Given the description of an element on the screen output the (x, y) to click on. 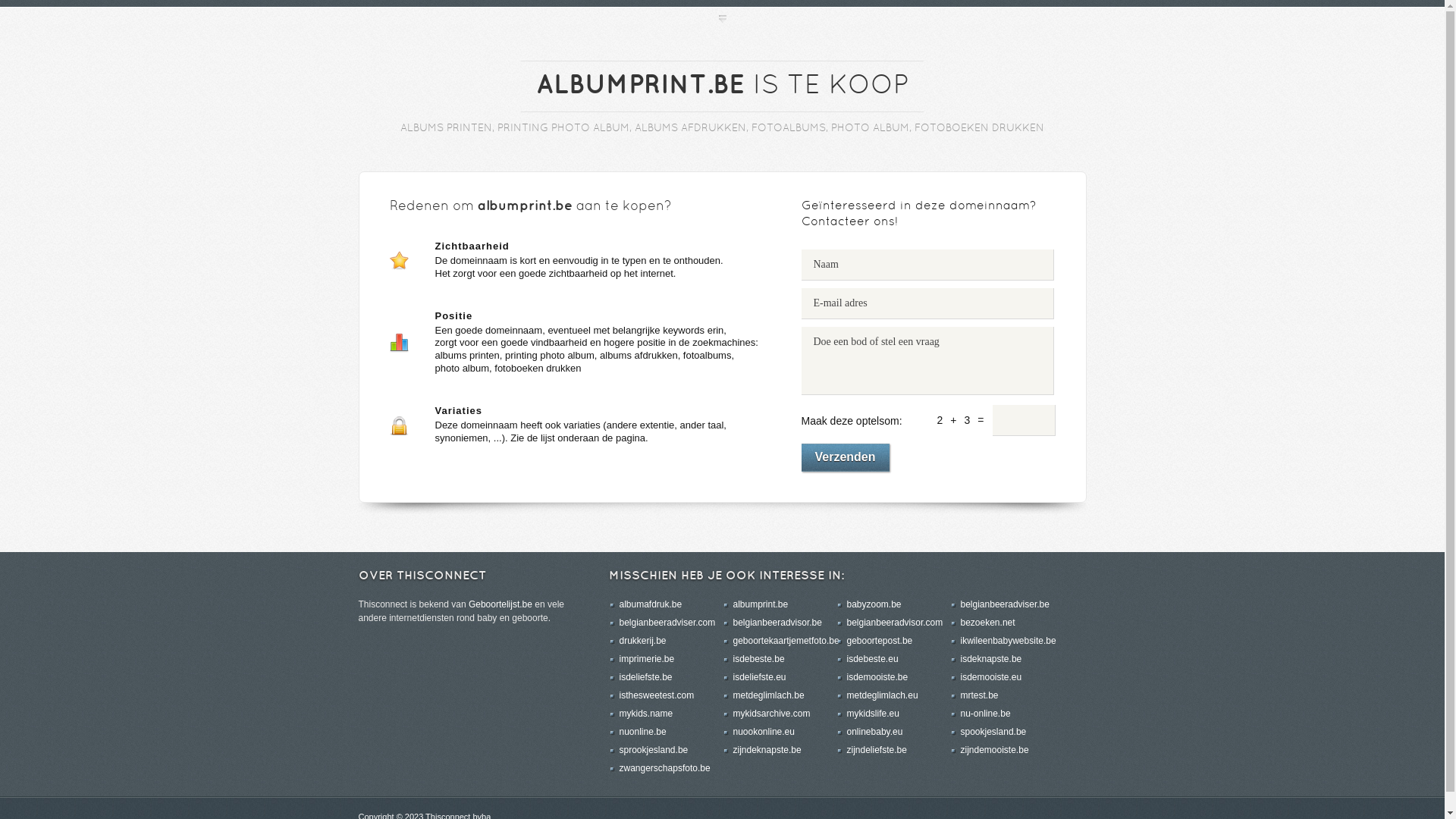
nu-online.be Element type: text (985, 713)
imprimerie.be Element type: text (646, 658)
belgianbeeradvisor.com Element type: text (894, 622)
drukkerij.be Element type: text (641, 640)
geboortepost.be Element type: text (879, 640)
isdebeste.be Element type: text (758, 658)
belgianbeeradvisor.be Element type: text (776, 622)
mykidsarchive.com Element type: text (770, 713)
spookjesland.be Element type: text (993, 731)
isdeliefste.eu Element type: text (758, 676)
isthesweetest.com Element type: text (655, 695)
zijndemooiste.be Element type: text (994, 749)
mykids.name Element type: text (645, 713)
mykidslife.eu Element type: text (872, 713)
metdeglimlach.eu Element type: text (881, 695)
metdeglimlach.be Element type: text (767, 695)
isdemooiste.be Element type: text (876, 676)
isdeliefste.be Element type: text (644, 676)
nuookonline.eu Element type: text (762, 731)
Verzenden Element type: text (844, 457)
onlinebaby.eu Element type: text (874, 731)
isdebeste.eu Element type: text (871, 658)
bezoeken.net Element type: text (987, 622)
nuonline.be Element type: text (641, 731)
zijndeliefste.be Element type: text (876, 749)
sprookjesland.be Element type: text (652, 749)
albumprint.be Element type: text (759, 604)
belgianbeeradviser.com Element type: text (666, 622)
albumafdruk.be Element type: text (649, 604)
Geboortelijst.be Element type: text (500, 604)
mrtest.be Element type: text (978, 695)
zijndeknapste.be Element type: text (766, 749)
zwangerschapsfoto.be Element type: text (663, 767)
ikwileenbabywebsite.be Element type: text (1007, 640)
belgianbeeradviser.be Element type: text (1004, 604)
babyzoom.be Element type: text (873, 604)
geboortekaartjemetfoto.be Element type: text (785, 640)
isdemooiste.eu Element type: text (990, 676)
isdeknapste.be Element type: text (990, 658)
